Given the description of an element on the screen output the (x, y) to click on. 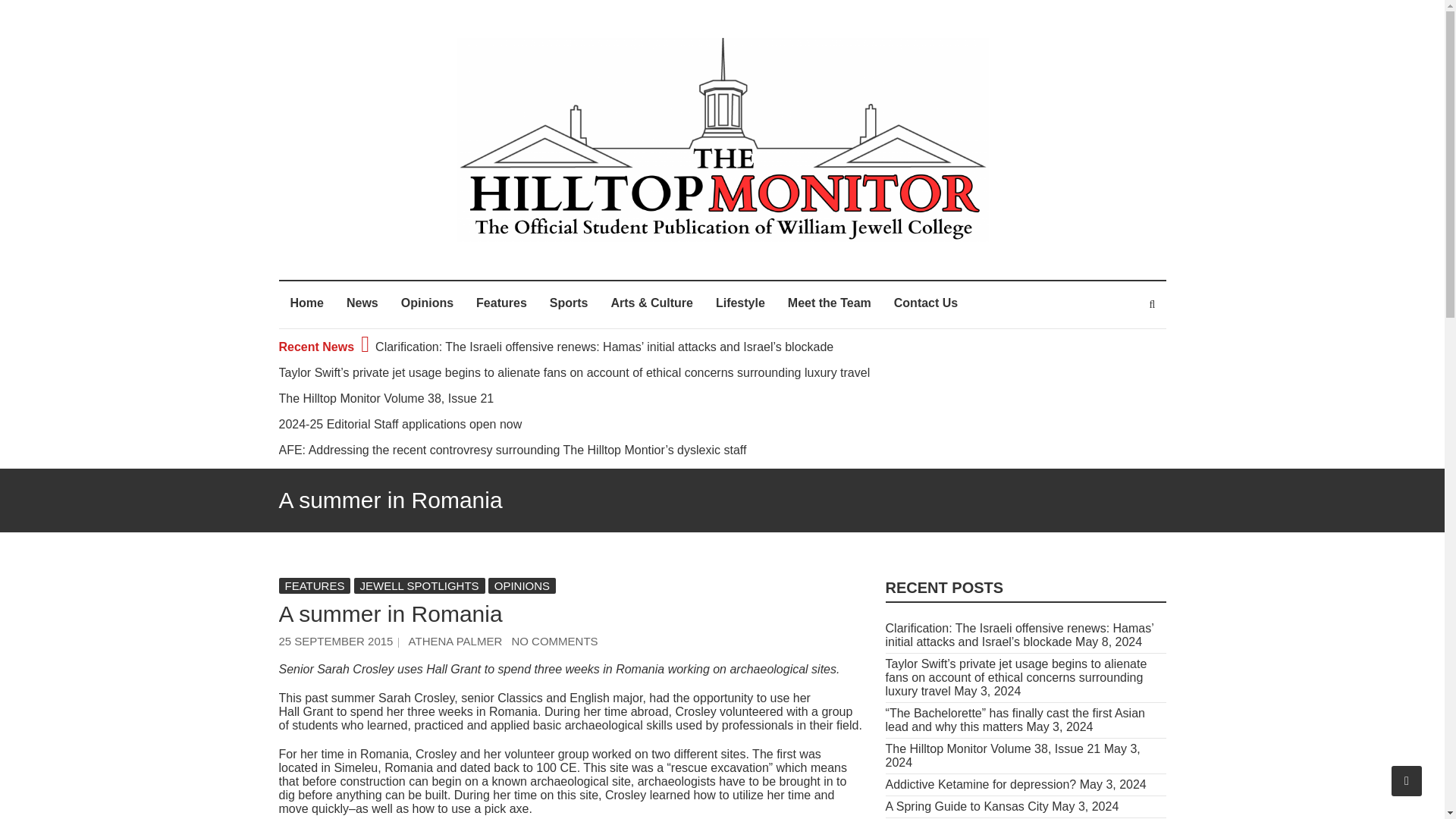
Sports (568, 304)
Features (501, 304)
News (362, 304)
Home (306, 304)
A summer in Romania (455, 640)
25 September 2015 (336, 640)
Go to Top (1406, 780)
The Hilltop Monitor Volume 38, Issue 21 (387, 398)
Opinions (427, 304)
The Hilltop Monitor (536, 256)
2024-25 Editorial Staff applications open now (400, 423)
The Hilltop Monitor (536, 256)
